Given the description of an element on the screen output the (x, y) to click on. 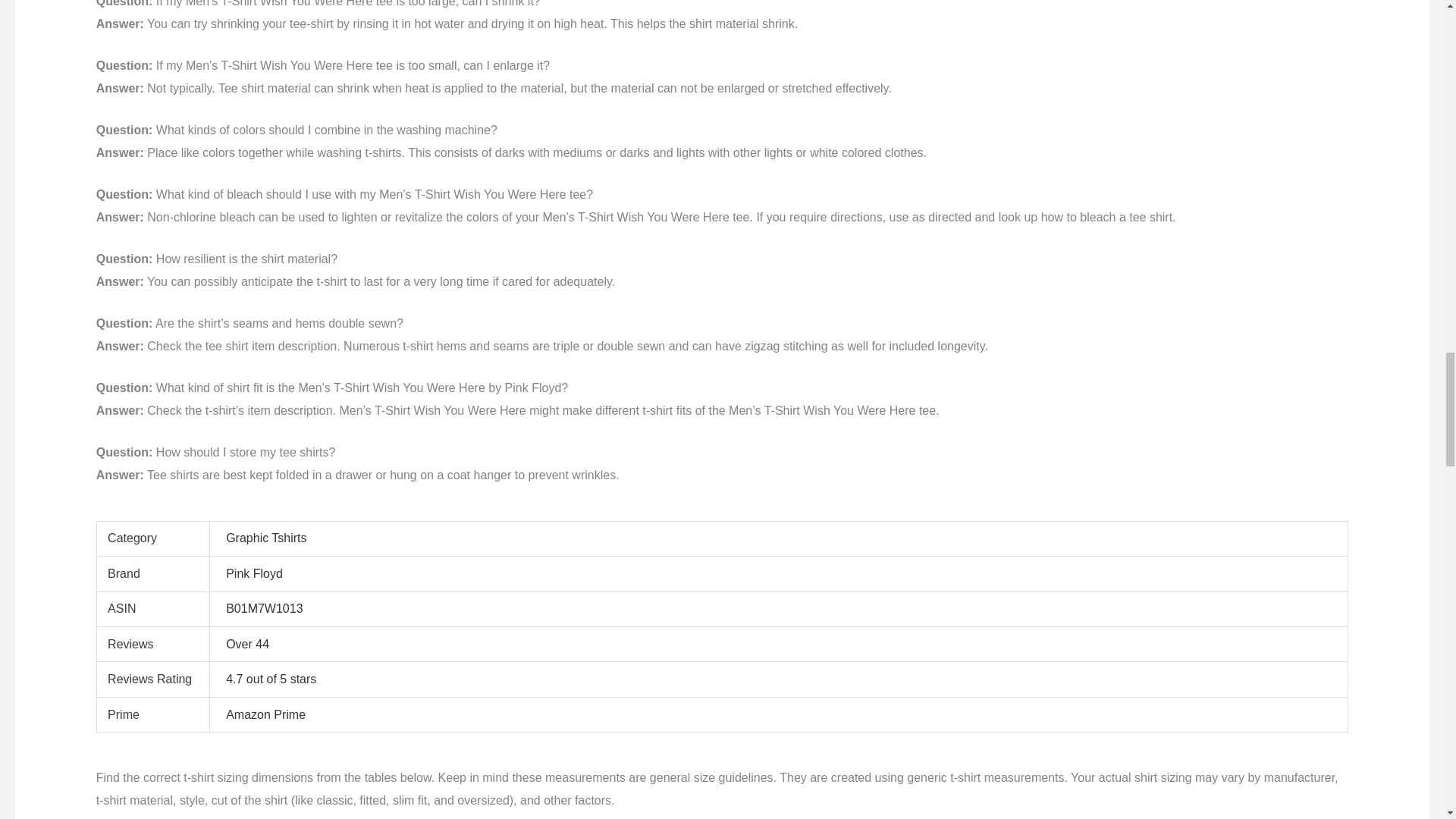
4.7 out of 5 stars (270, 678)
B01M7W1013 (263, 608)
Amazon Prime (265, 714)
Pink Floyd (253, 573)
Graphic Tshirts (265, 537)
Over 44 (247, 644)
